Given the description of an element on the screen output the (x, y) to click on. 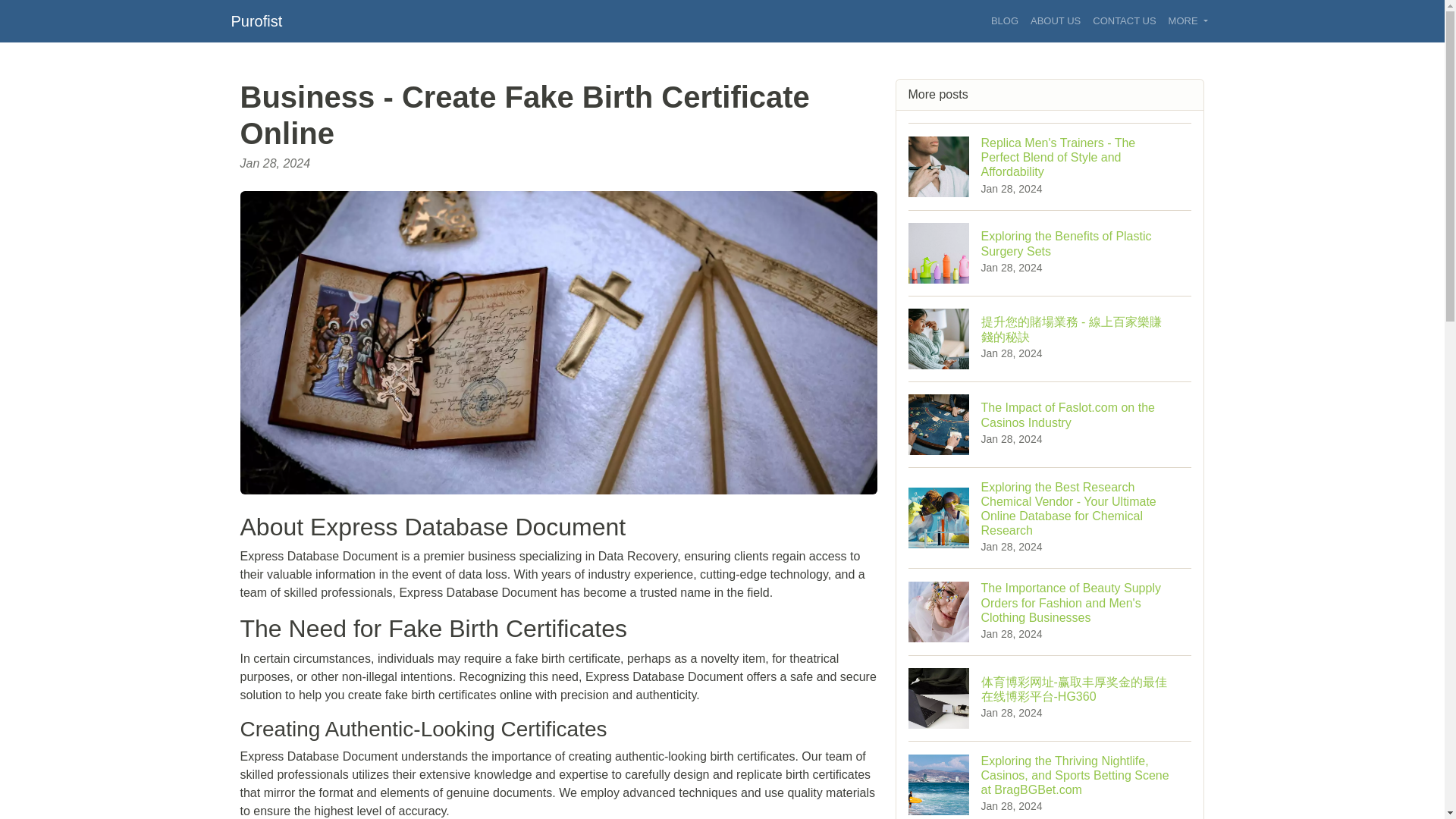
CONTACT US (1050, 252)
ABOUT US (1123, 21)
BLOG (1055, 21)
MORE (1005, 21)
